Given the description of an element on the screen output the (x, y) to click on. 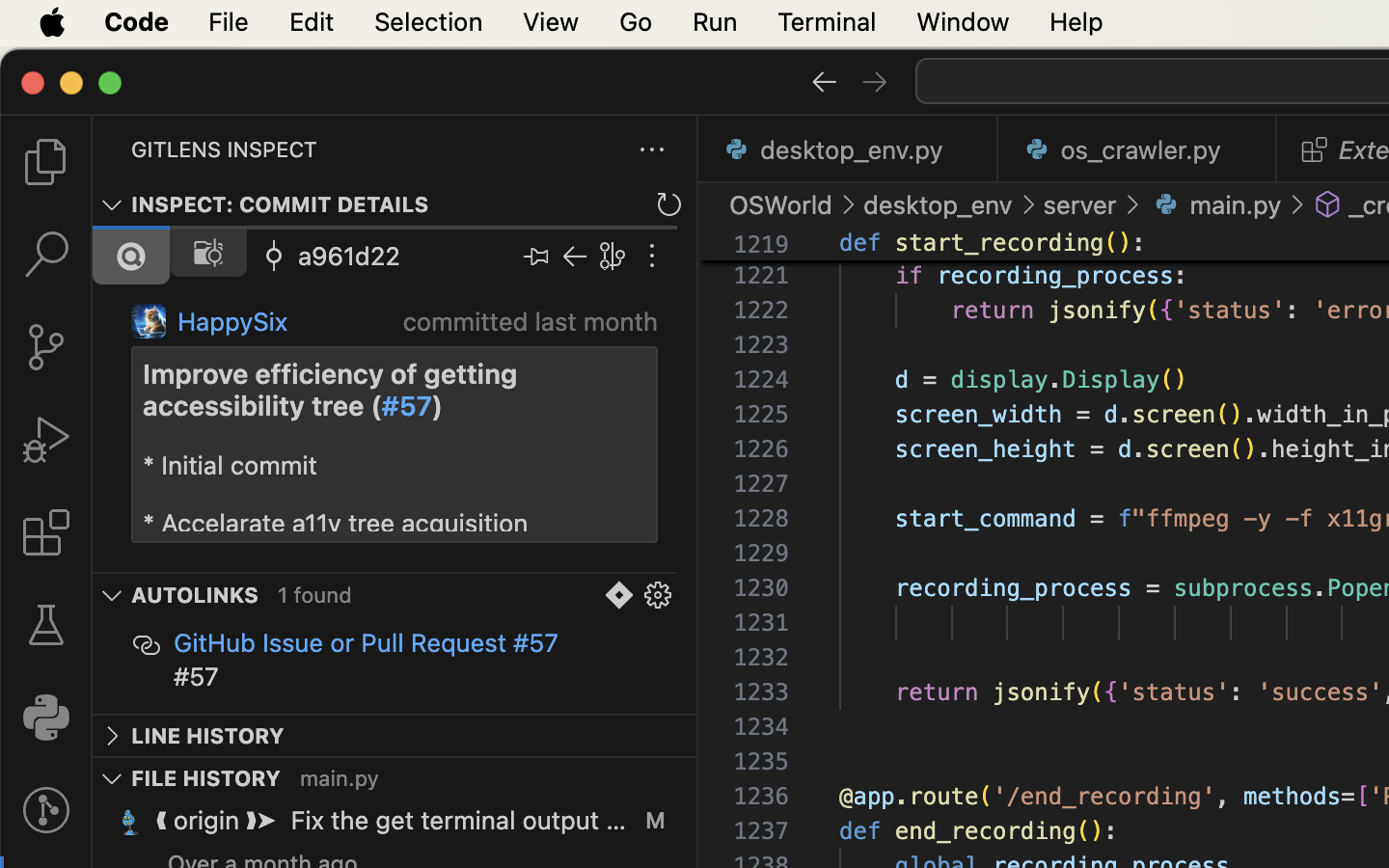
M Element type: AXStaticText (654, 819)
HappySix Element type: AXStaticText (233, 321)
 Element type: AXStaticText (146, 645)
LINE HISTORY Element type: AXStaticText (208, 735)
 Element type: AXStaticText (613, 256)
